Given the description of an element on the screen output the (x, y) to click on. 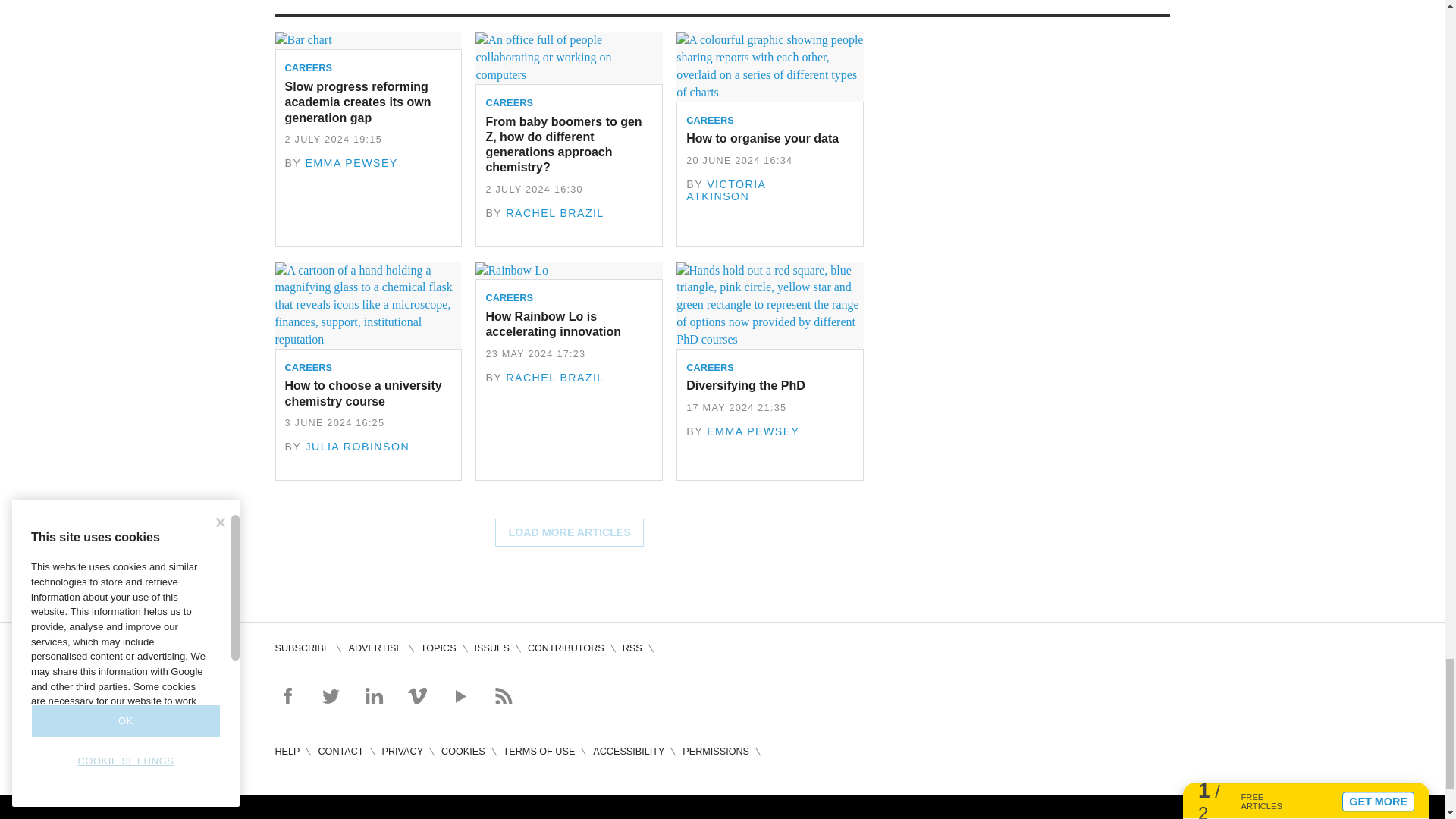
Follow on Facebook (287, 695)
Follow on Twitter (330, 695)
